Given the description of an element on the screen output the (x, y) to click on. 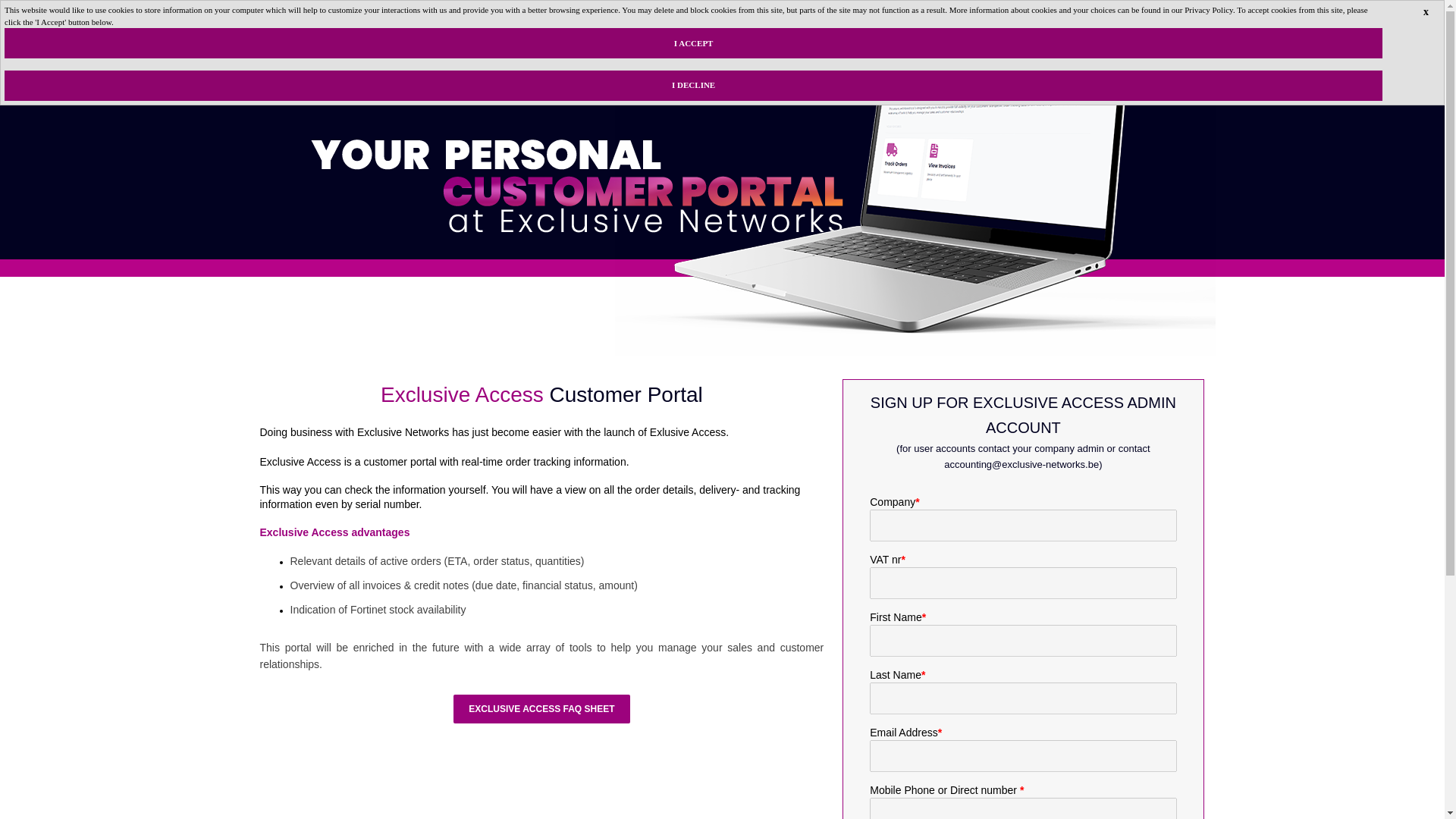
EXCLUSIVE ACCESS FAQ SHEET (540, 708)
I decline (692, 85)
I accept (692, 42)
